Given the description of an element on the screen output the (x, y) to click on. 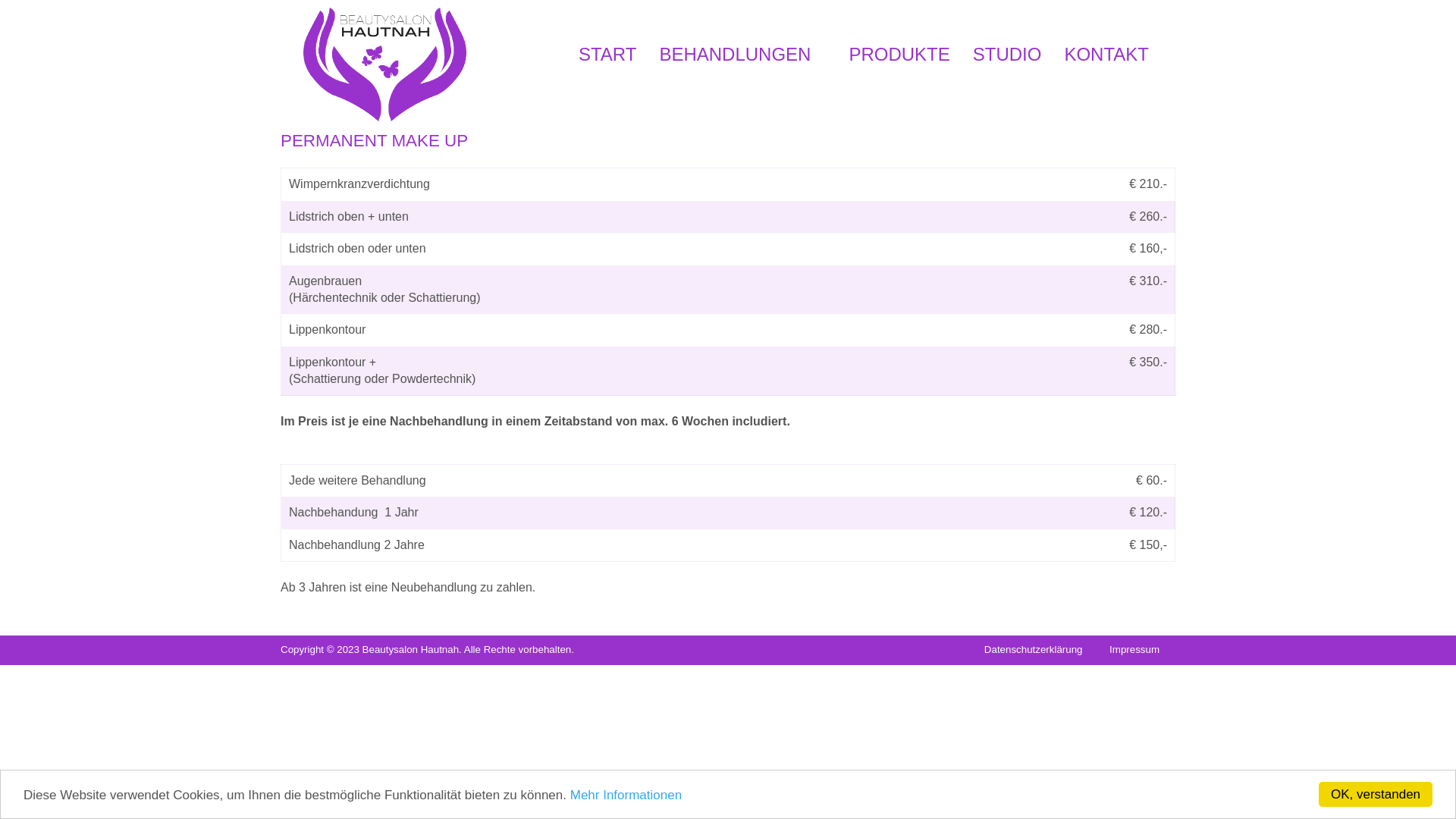
START Element type: text (607, 54)
KONTAKT Element type: text (1105, 54)
BEHANDLUNGEN Element type: text (741, 54)
Mehr Informationen Element type: text (625, 794)
OK, verstanden Element type: text (1375, 793)
STUDIO Element type: text (1006, 54)
Impressum Element type: text (1134, 649)
PRODUKTE Element type: text (898, 54)
